Given the description of an element on the screen output the (x, y) to click on. 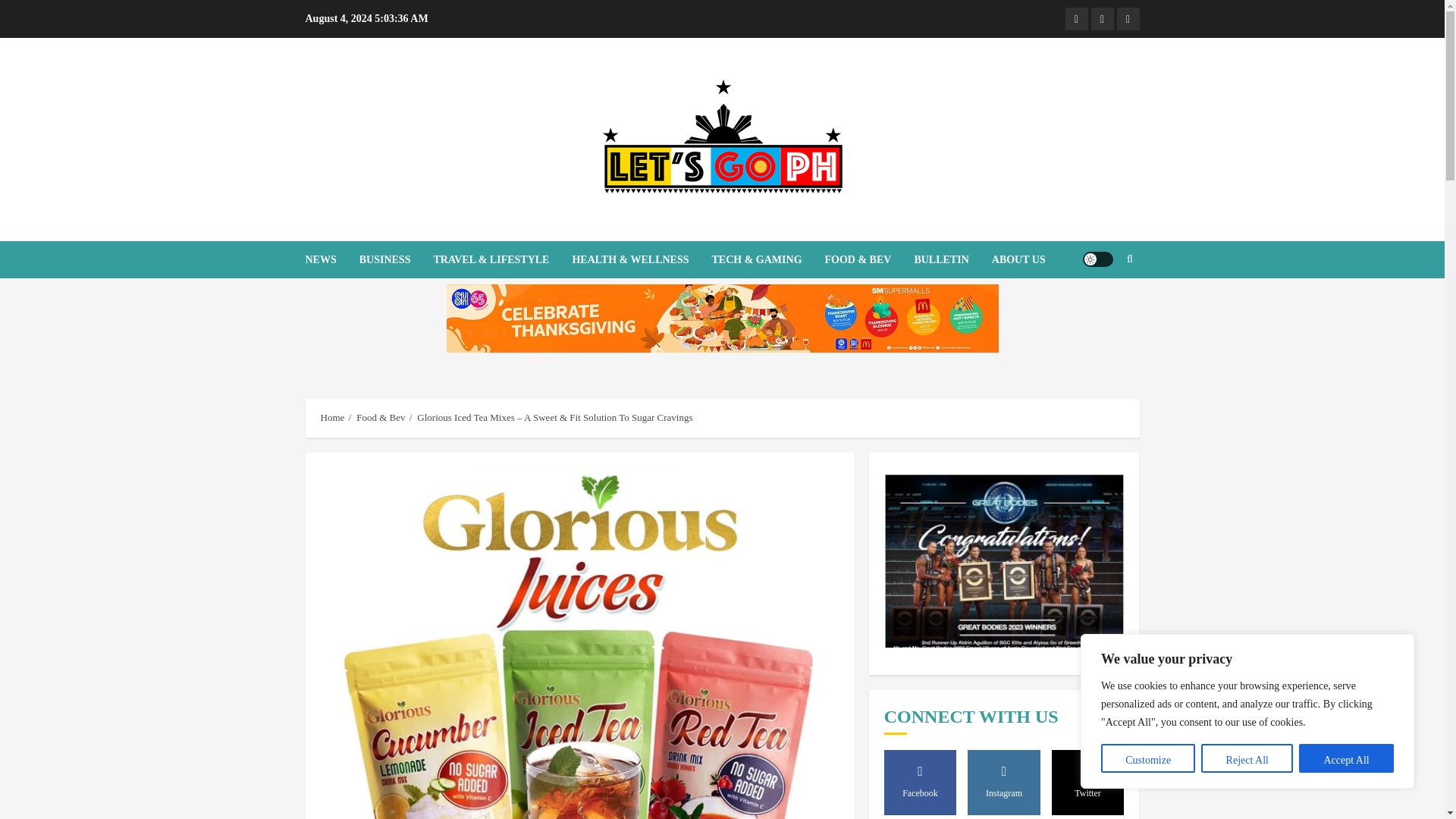
BUSINESS (396, 259)
Accept All (1345, 758)
BULLETIN (952, 259)
Twitter (1127, 18)
NEWS (331, 259)
ABOUT US (1018, 259)
Customize (1147, 758)
Reject All (1246, 758)
Instagram (1101, 18)
Home (331, 417)
